Given the description of an element on the screen output the (x, y) to click on. 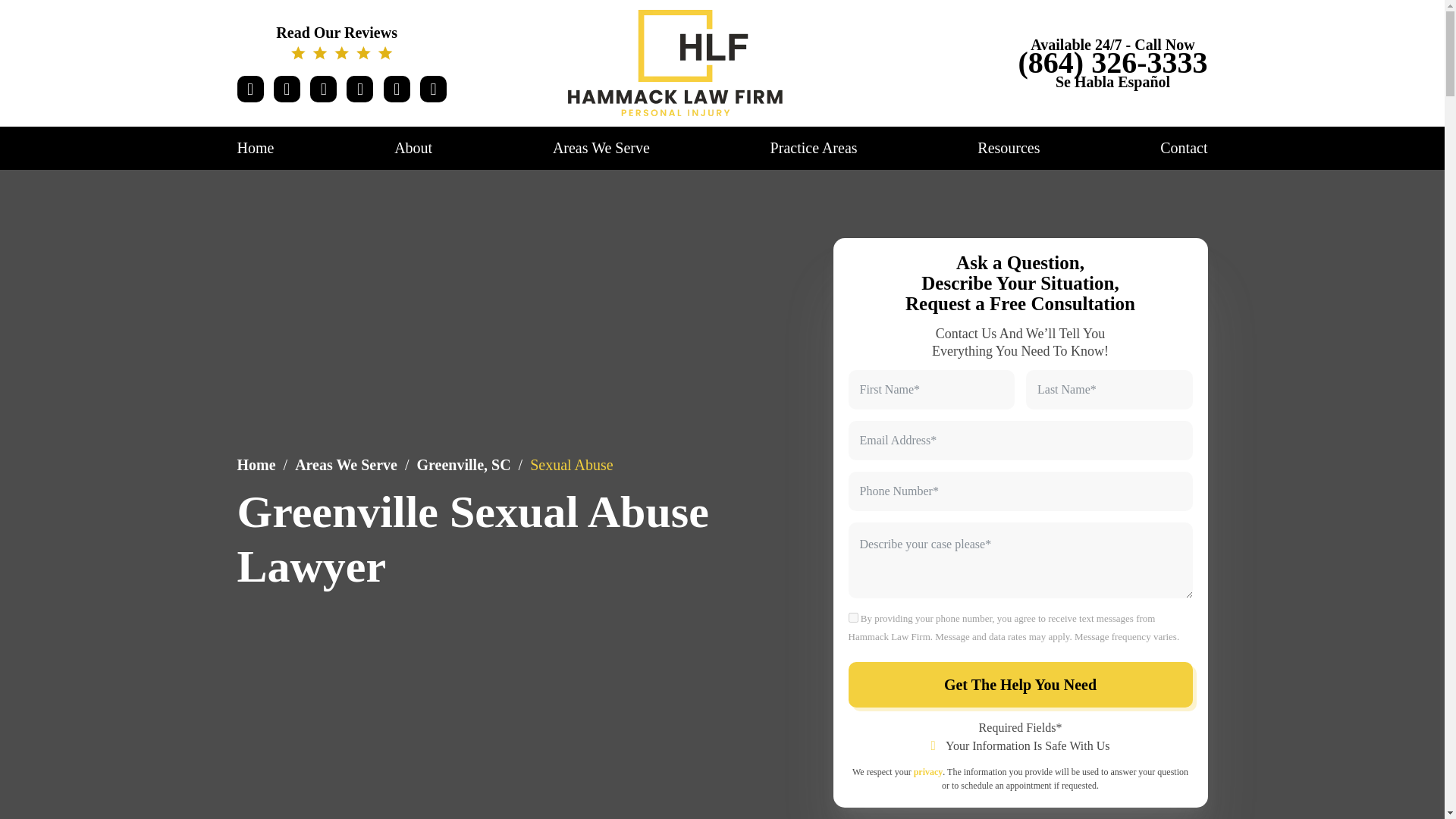
Read Our Reviews (340, 41)
Read Our Reviews (340, 41)
About (413, 147)
Home (254, 147)
Areas We Serve (601, 147)
